Given the description of an element on the screen output the (x, y) to click on. 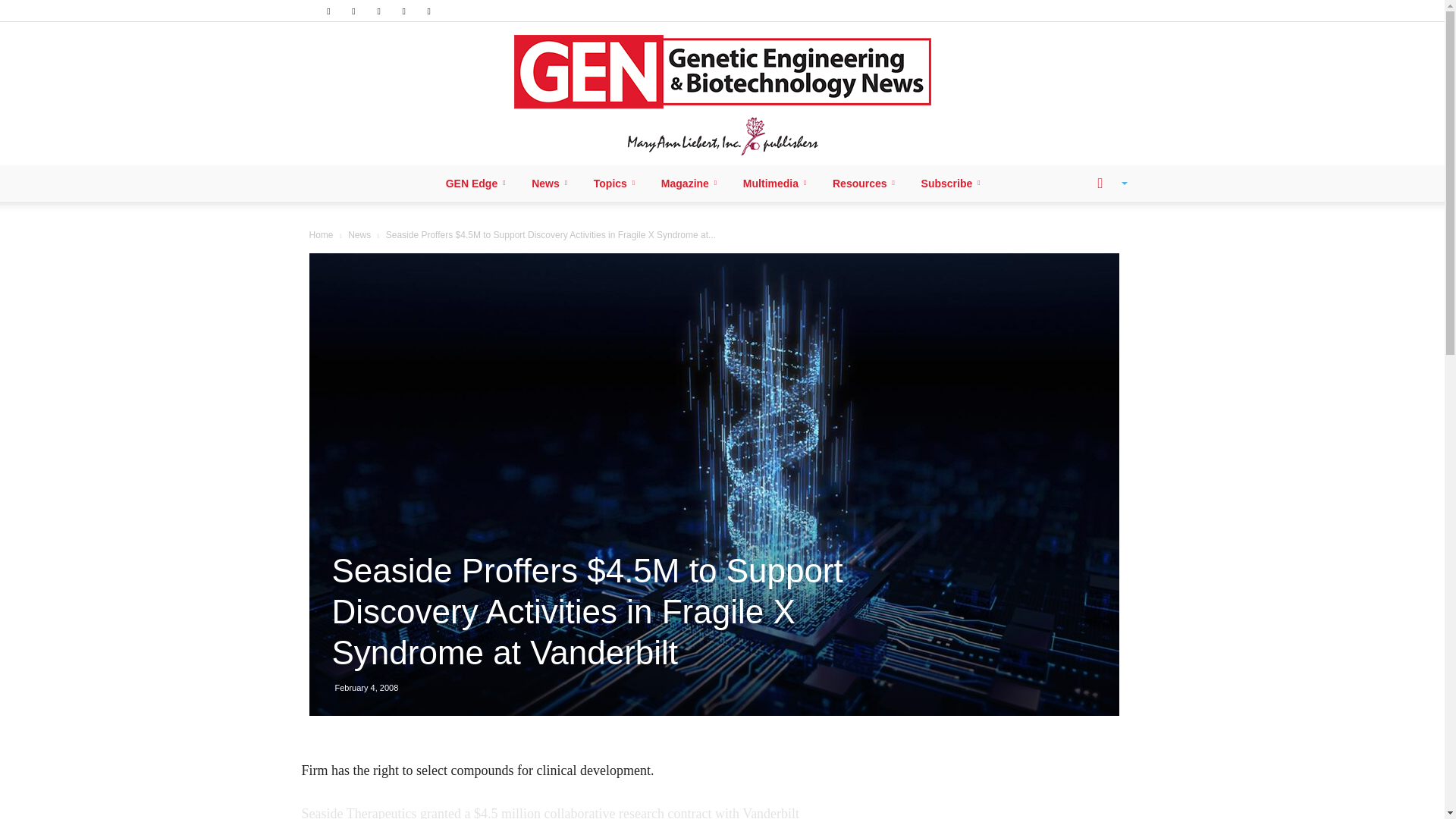
View all posts in News (359, 235)
Twitter (403, 10)
RSS (379, 10)
Youtube (429, 10)
Linkedin (353, 10)
Facebook (328, 10)
